Given the description of an element on the screen output the (x, y) to click on. 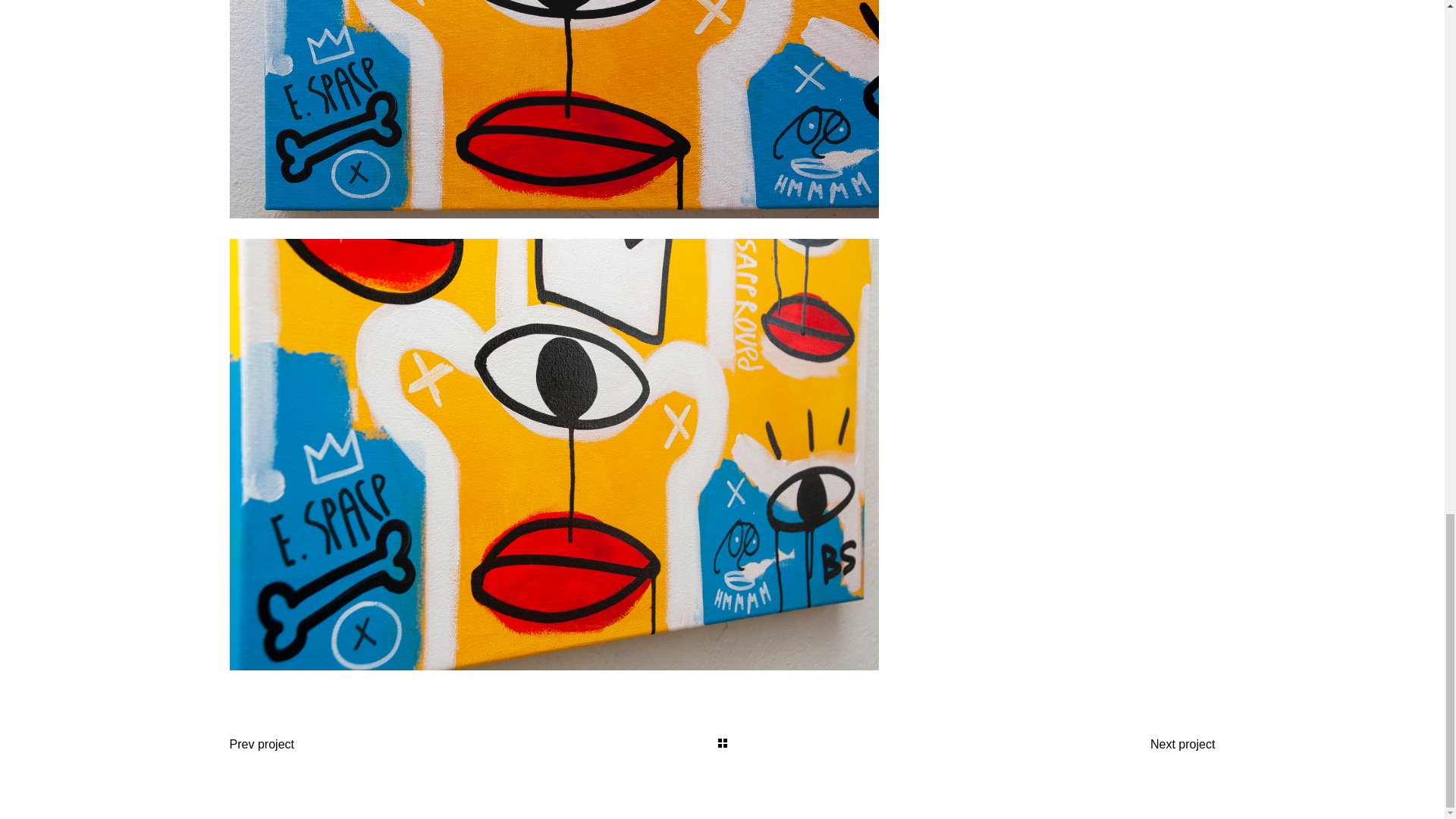
Prev project (261, 744)
Next project (1182, 744)
